Given the description of an element on the screen output the (x, y) to click on. 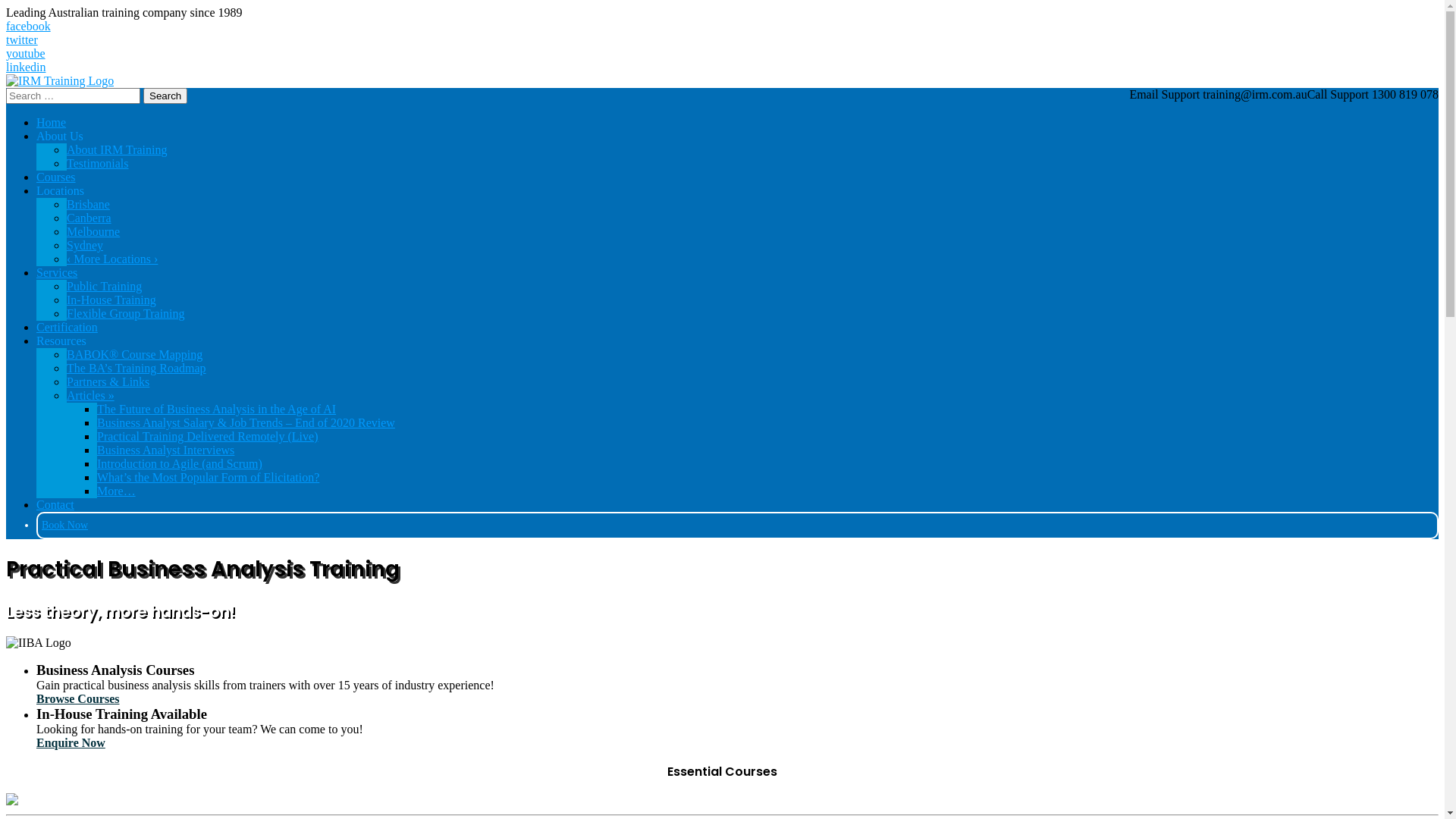
Services Element type: text (56, 272)
Business Analyst Interviews Element type: text (165, 449)
Melbourne Element type: text (92, 231)
Certification Element type: text (66, 326)
Search Element type: text (165, 95)
linkedin Element type: text (722, 67)
Introduction to Agile (and Scrum) Element type: text (179, 463)
Resources Element type: text (61, 340)
Partners & Links Element type: text (107, 381)
Public Training Element type: text (103, 285)
Browse Courses Element type: text (77, 698)
In-House Training Element type: text (111, 299)
Locations Element type: text (60, 190)
Courses Element type: text (55, 176)
Flexible Group Training Element type: text (125, 313)
Canberra Element type: text (88, 217)
Skip to content Element type: text (5, 5)
Testimonials Element type: text (97, 162)
Practical Training Delivered Remotely (Live) Element type: text (207, 435)
Contact Element type: text (55, 504)
twitter Element type: text (722, 40)
About Us Element type: text (59, 135)
Book Now Element type: text (64, 524)
About IRM Training Element type: text (116, 149)
youtube Element type: text (722, 53)
Sydney Element type: text (84, 244)
Home Element type: text (50, 122)
The Future of Business Analysis in the Age of AI Element type: text (216, 408)
facebook Element type: text (722, 26)
Brisbane Element type: text (87, 203)
Enquire Now Element type: text (70, 742)
